Given the description of an element on the screen output the (x, y) to click on. 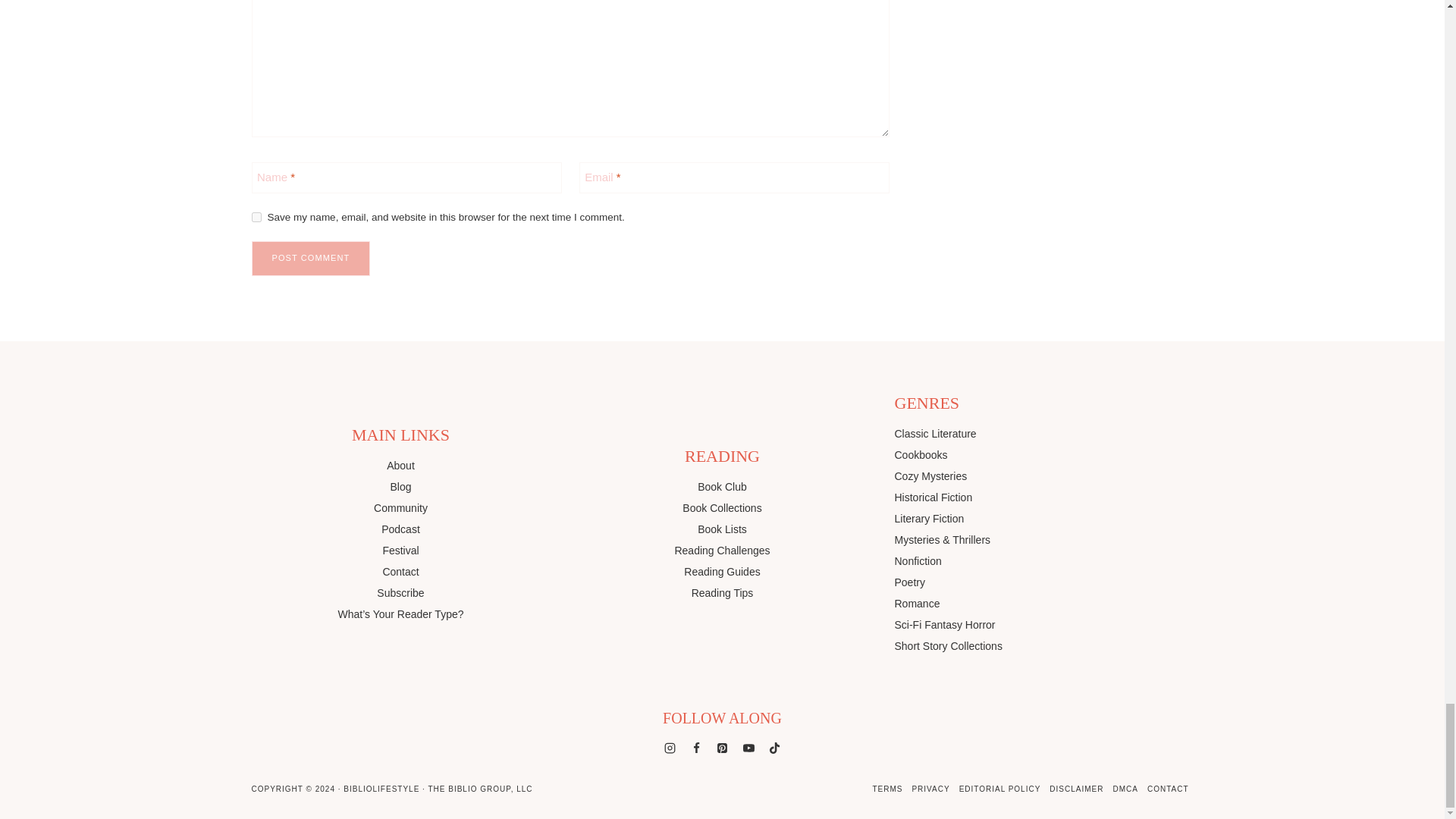
Post Comment (311, 258)
yes (256, 216)
